Given the description of an element on the screen output the (x, y) to click on. 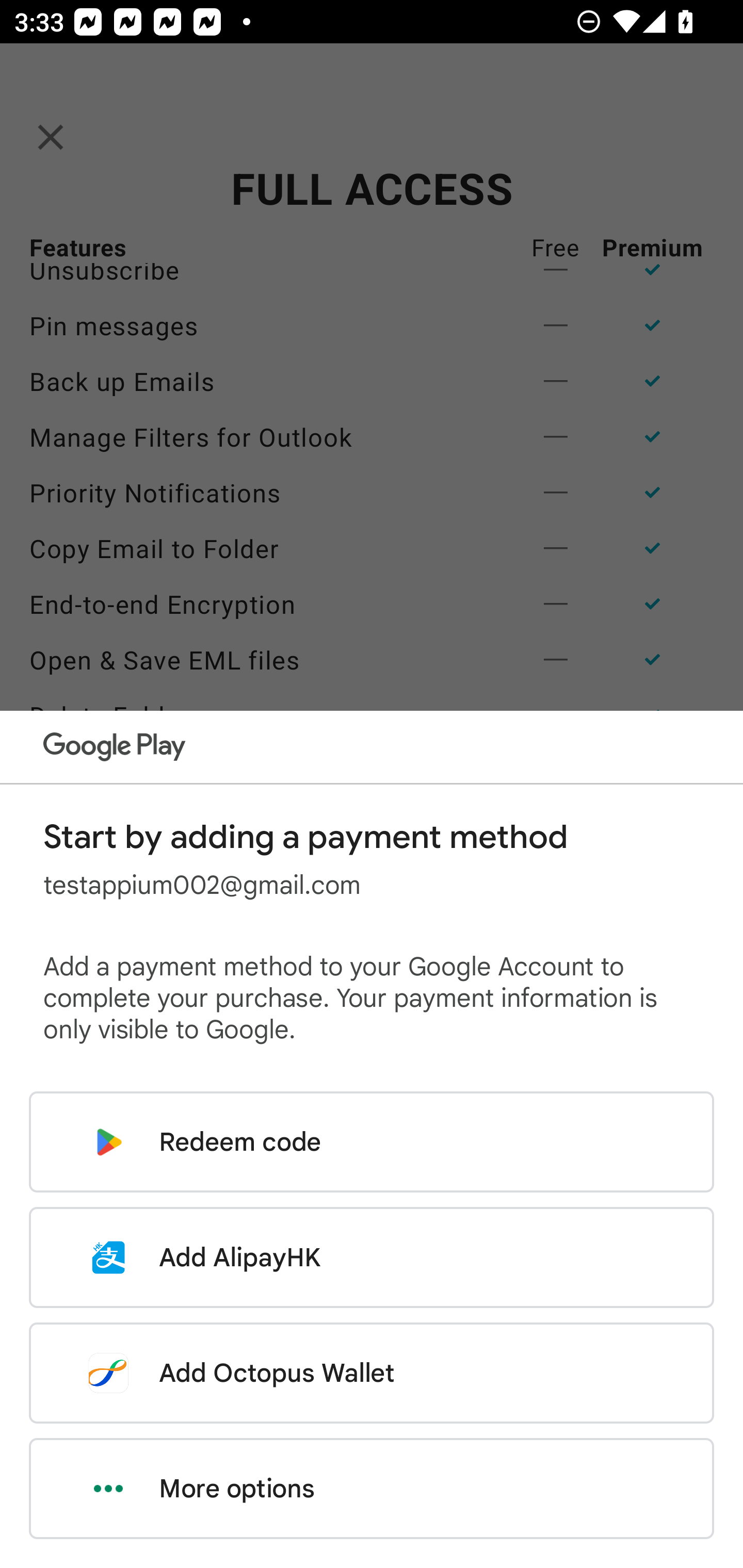
Redeem code (371, 1142)
Add AlipayHK (371, 1257)
Add Octopus Wallet (371, 1372)
More options (371, 1488)
